Given the description of an element on the screen output the (x, y) to click on. 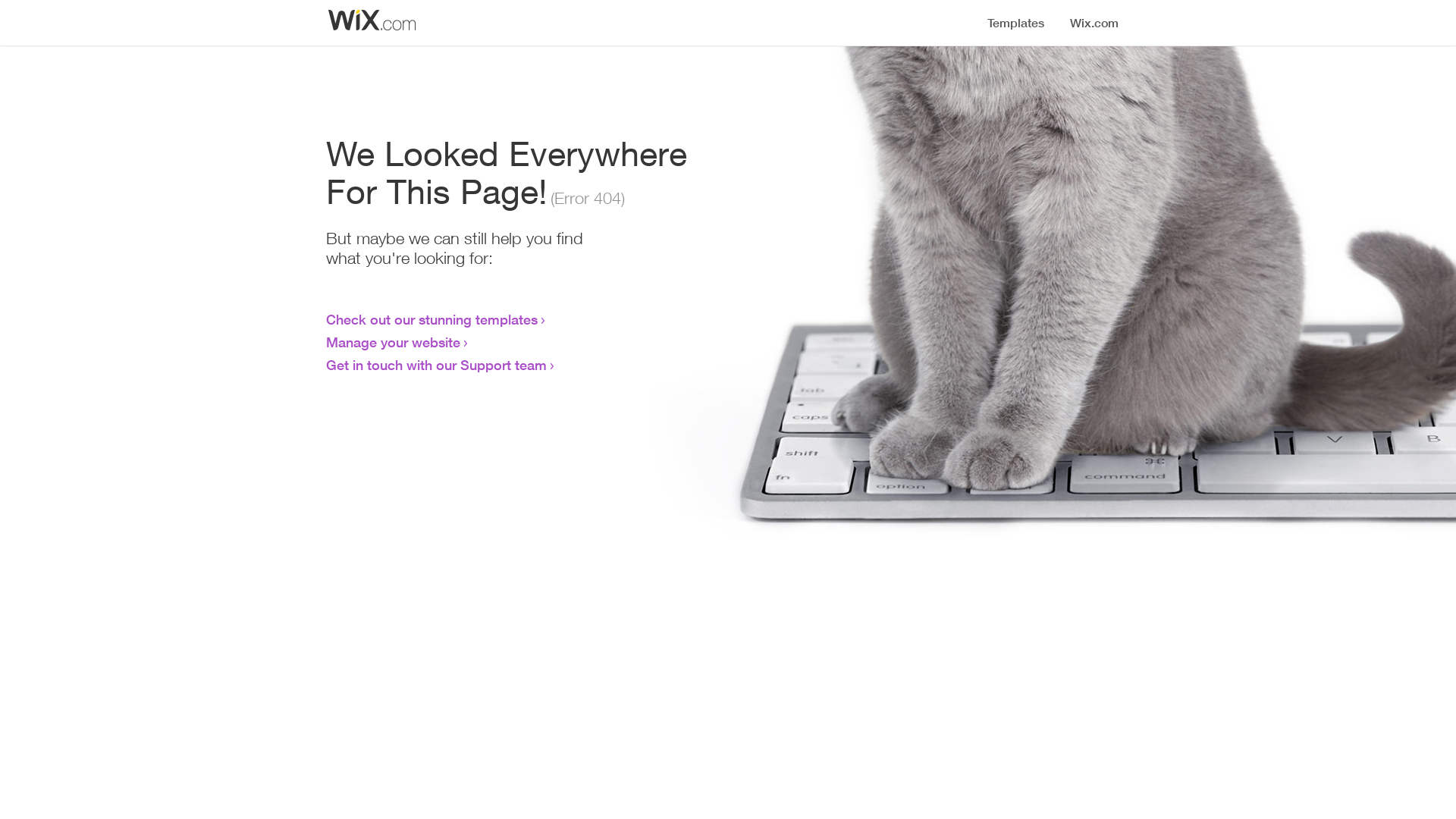
Manage your website Element type: text (393, 341)
Check out our stunning templates Element type: text (431, 318)
Get in touch with our Support team Element type: text (436, 364)
